Given the description of an element on the screen output the (x, y) to click on. 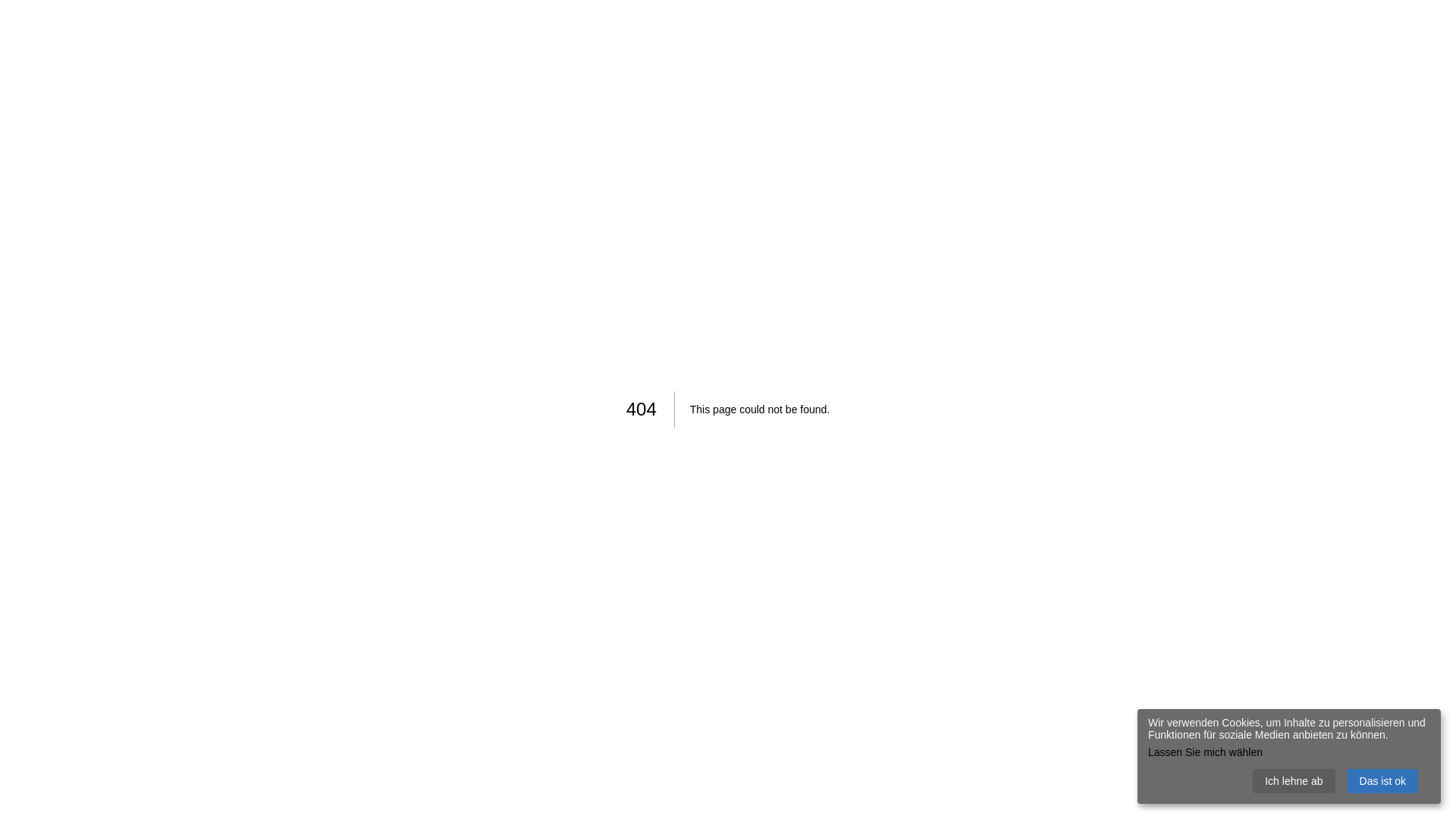
Das ist ok Element type: text (1382, 780)
Ich lehne ab Element type: text (1293, 780)
